Given the description of an element on the screen output the (x, y) to click on. 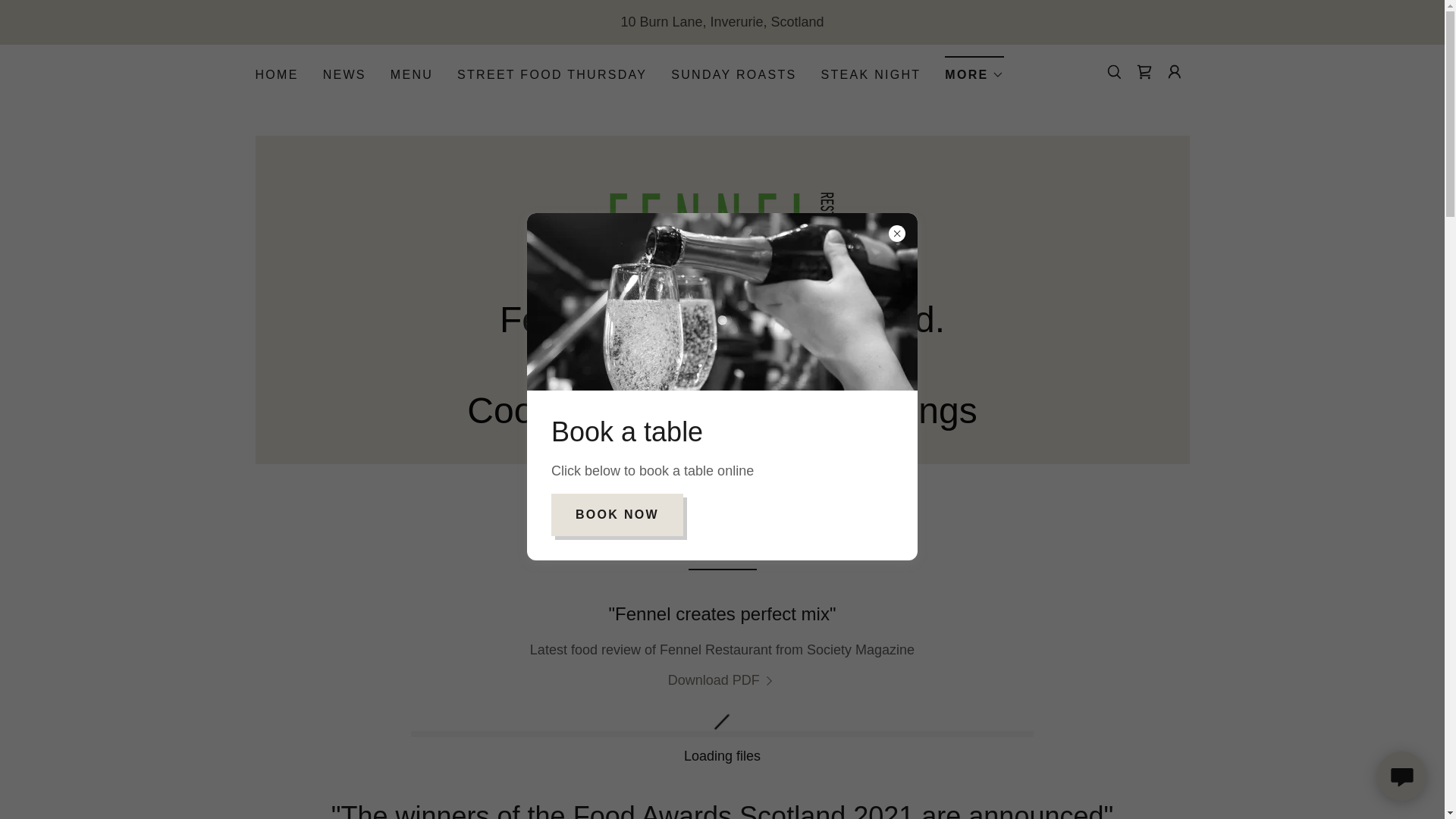
HOME (276, 74)
STREET FOOD THURSDAY (551, 74)
NEWS (344, 74)
MORE (973, 70)
SUNDAY ROASTS (733, 74)
STEAK NIGHT (869, 74)
MENU (411, 74)
fennel restaurant (721, 224)
